Given the description of an element on the screen output the (x, y) to click on. 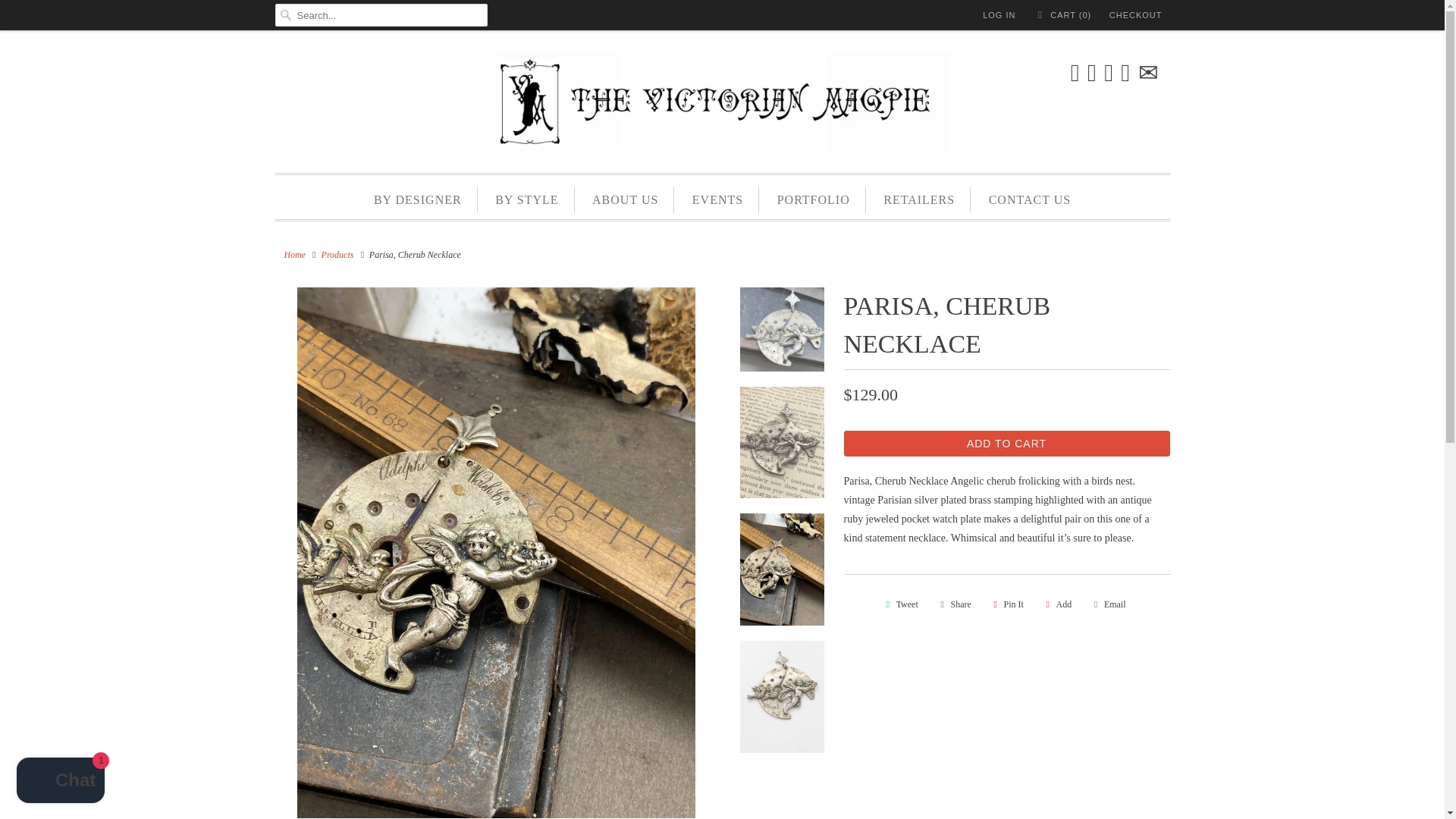
Share this on Twitter (898, 604)
The Victorian Magpie (294, 254)
Share this on Facebook (953, 604)
Email this to a friend (1107, 604)
Products (337, 254)
The Victorian Magpie (722, 105)
CHECKOUT (1135, 15)
Share this on Pinterest (1005, 604)
LOG IN (998, 15)
